Given the description of an element on the screen output the (x, y) to click on. 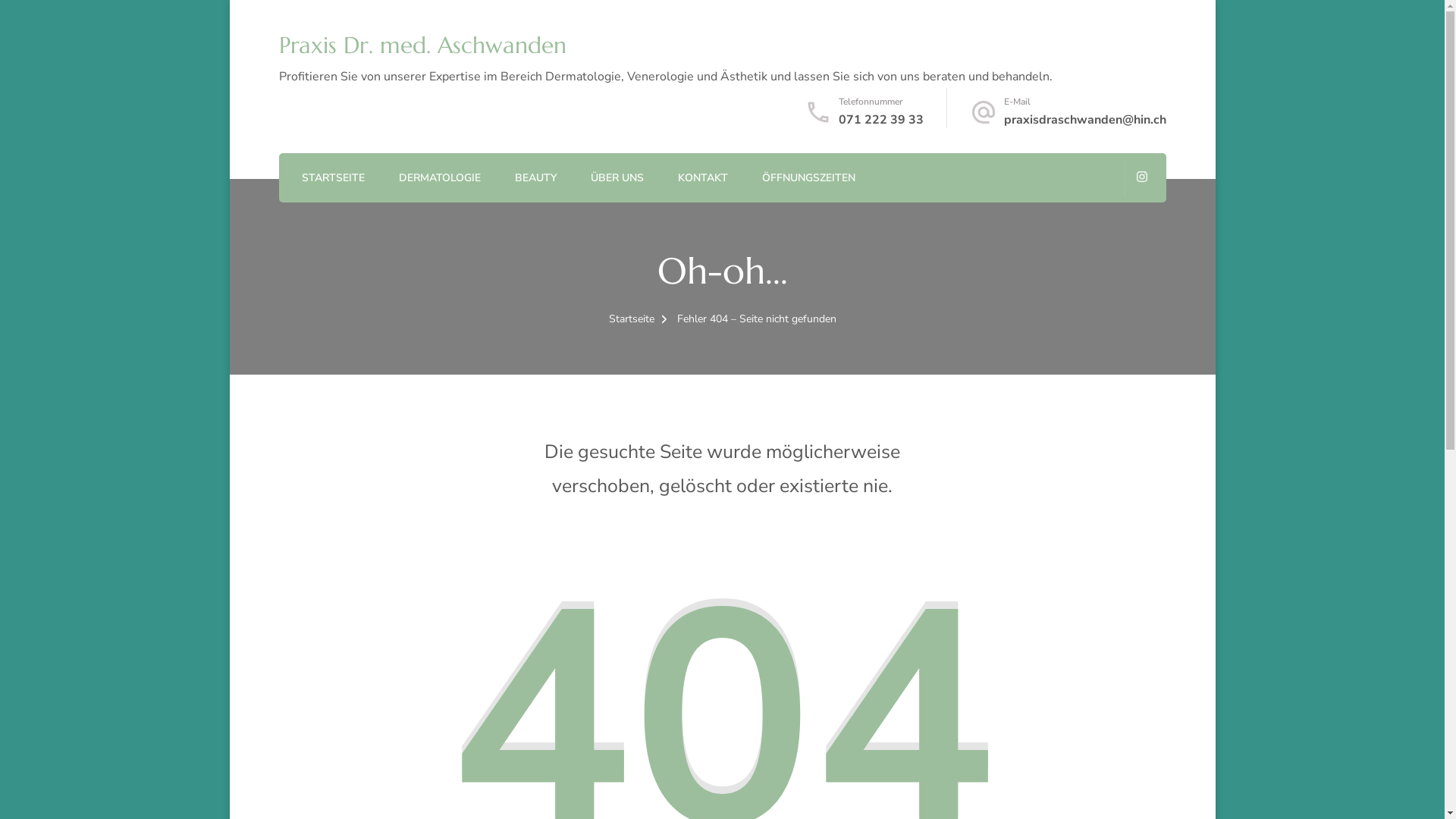
STARTSEITE Element type: text (332, 178)
praxisdraschwanden@hin.ch Element type: text (1085, 119)
Startseite Element type: text (630, 318)
KONTAKT Element type: text (702, 178)
BEAUTY Element type: text (534, 178)
071 222 39 33 Element type: text (880, 119)
Praxis Dr. med. Aschwanden Element type: text (422, 45)
DERMATOLOGIE Element type: text (439, 178)
